Given the description of an element on the screen output the (x, y) to click on. 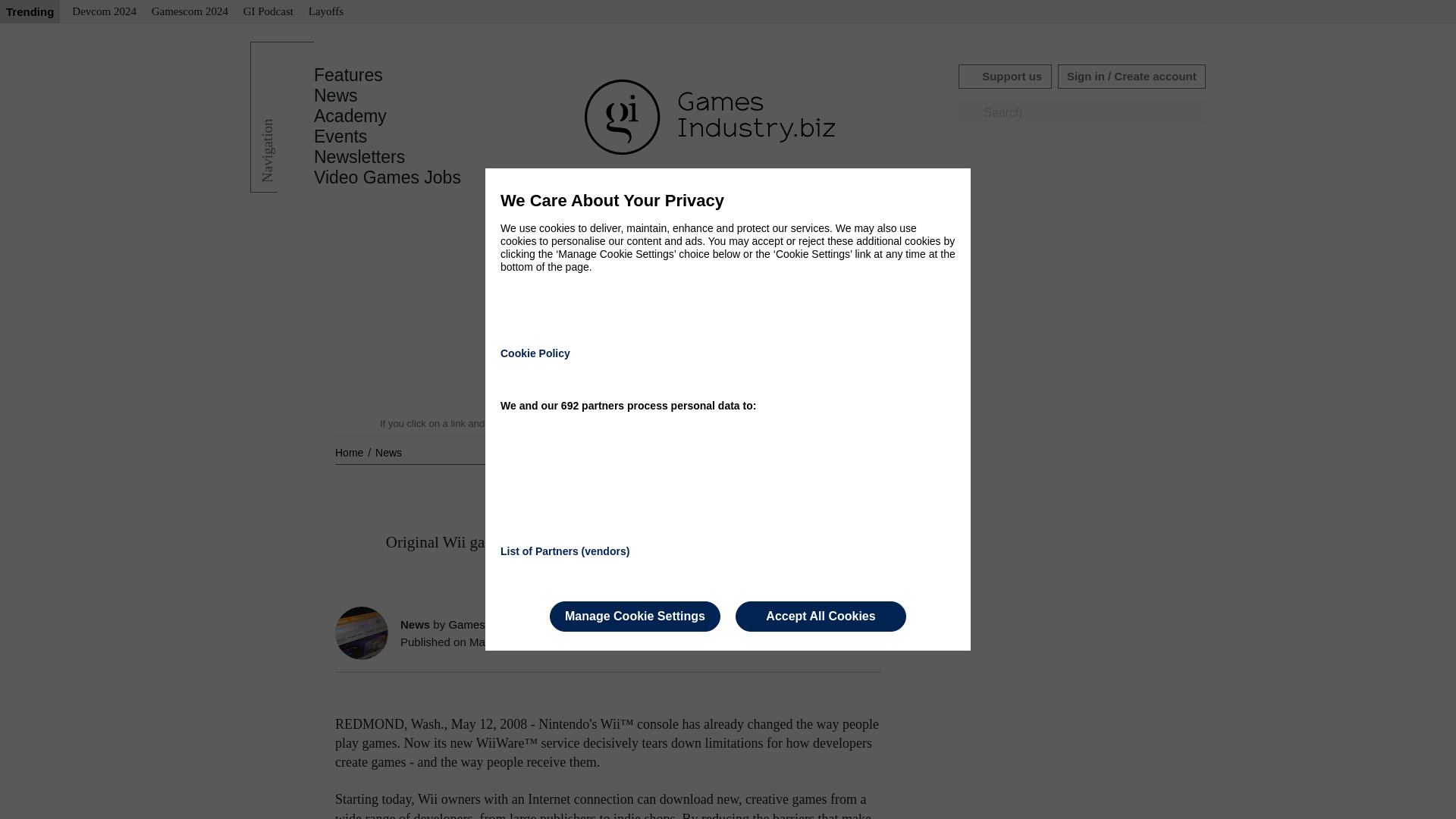
Video Games Jobs (387, 177)
Newsletters (359, 157)
News (388, 452)
Newsletters (359, 157)
Home (350, 452)
Gamescom 2024 (189, 11)
Layoffs (325, 11)
Home (350, 452)
Devcom 2024 (103, 11)
News (336, 95)
